Given the description of an element on the screen output the (x, y) to click on. 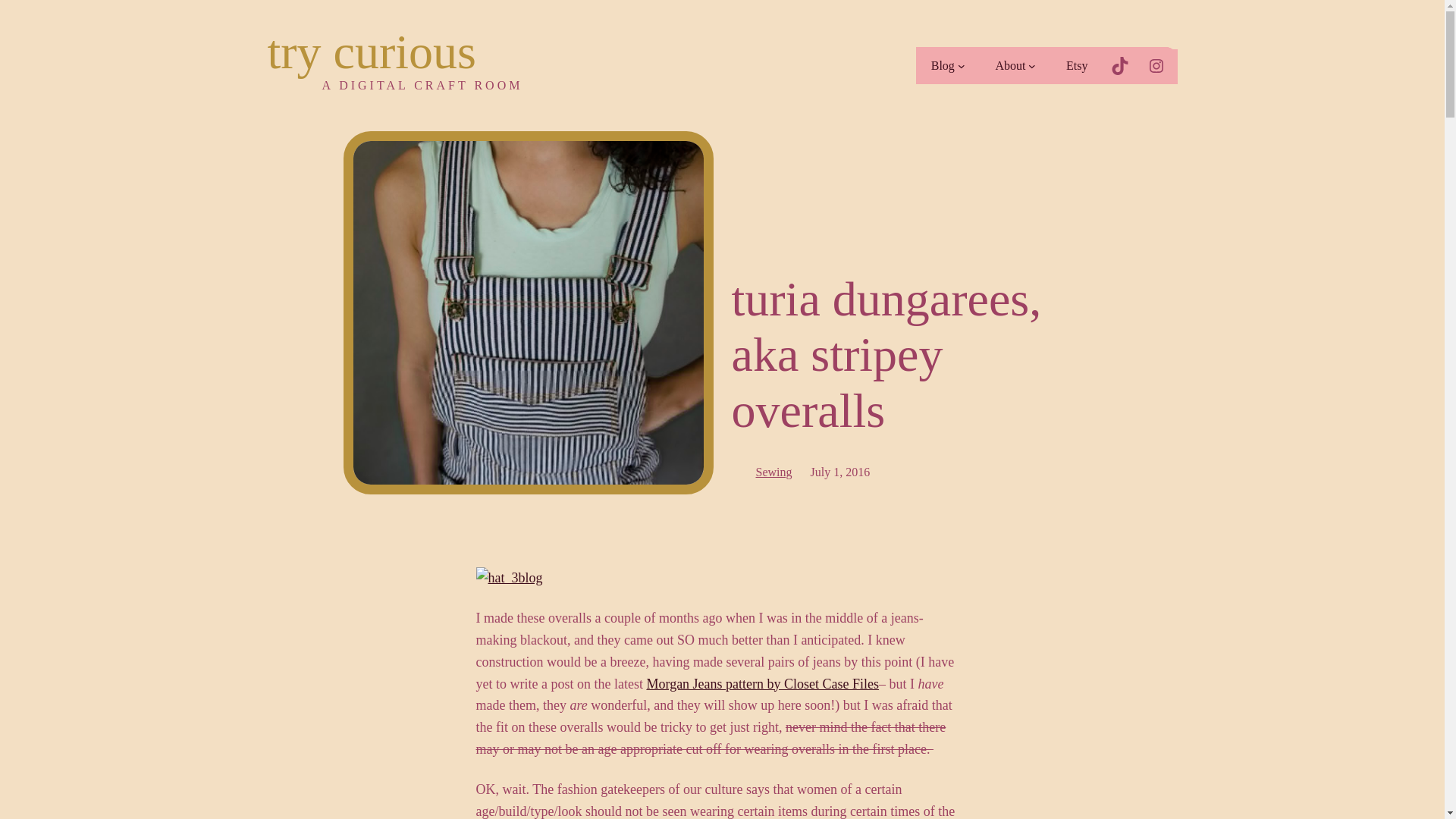
TikTok (1118, 65)
Morgan Jeans pattern by Closet Case Files (762, 683)
Instagram (1155, 65)
About (1009, 65)
try curious (371, 51)
Sewing (773, 472)
Etsy (1076, 65)
Blog (942, 65)
